Given the description of an element on the screen output the (x, y) to click on. 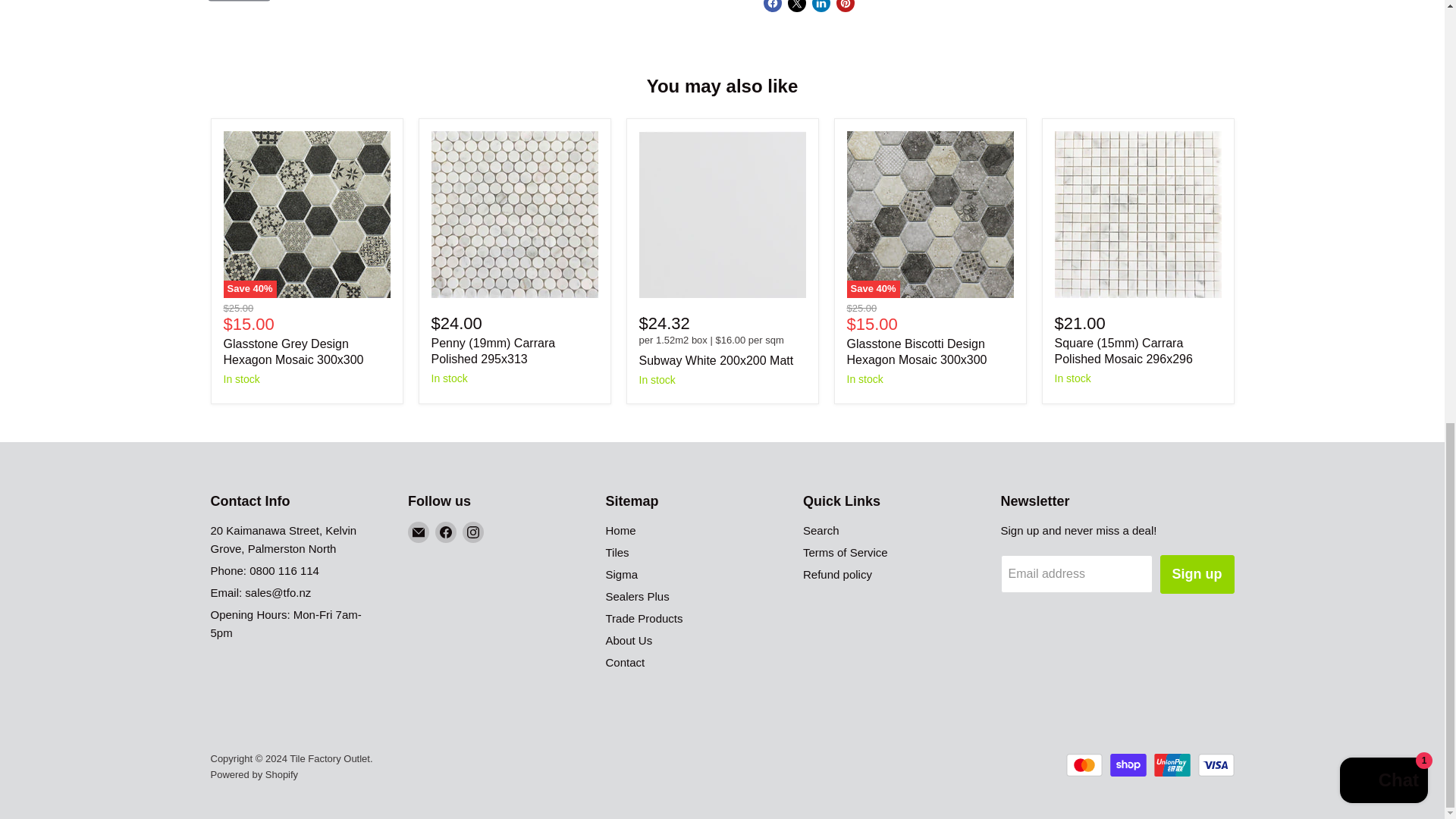
Instagram (473, 531)
Facebook (446, 531)
Email (418, 531)
